Given the description of an element on the screen output the (x, y) to click on. 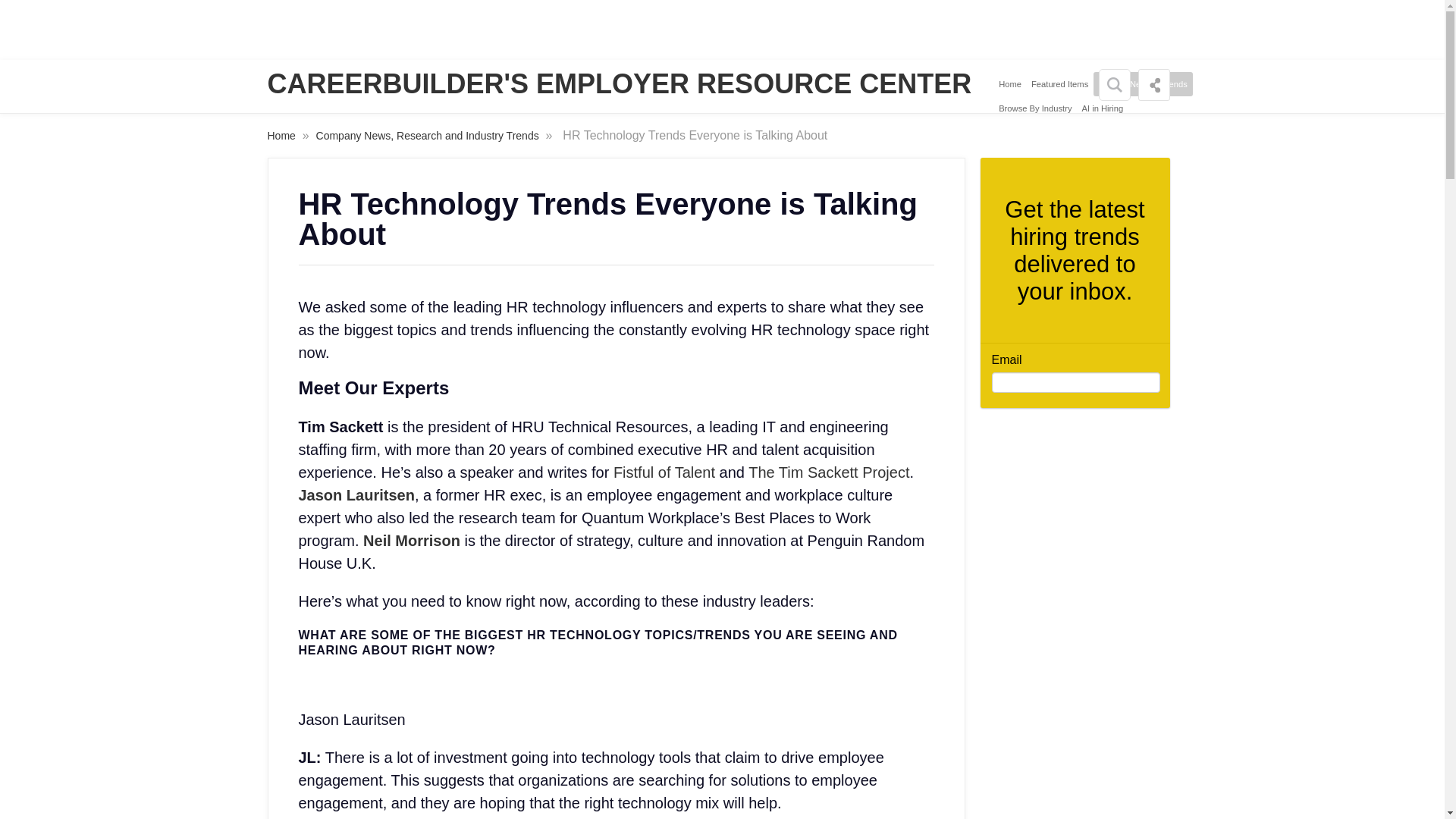
Browse By Industry (1035, 108)
CareerBuilder's Employer Resource Center (618, 83)
Sign Up (1074, 498)
CAREERBUILDER'S EMPLOYER RESOURCE CENTER (618, 83)
The Tim Sackett Project (828, 472)
Company News, Research and Industry Trends (428, 135)
Home (1010, 84)
Jason Lauritsen (356, 494)
Fistful of Talent (663, 472)
Featured Items (1059, 84)
Neil Morrison (411, 540)
Home (282, 135)
AI in Hiring (1103, 108)
